Given the description of an element on the screen output the (x, y) to click on. 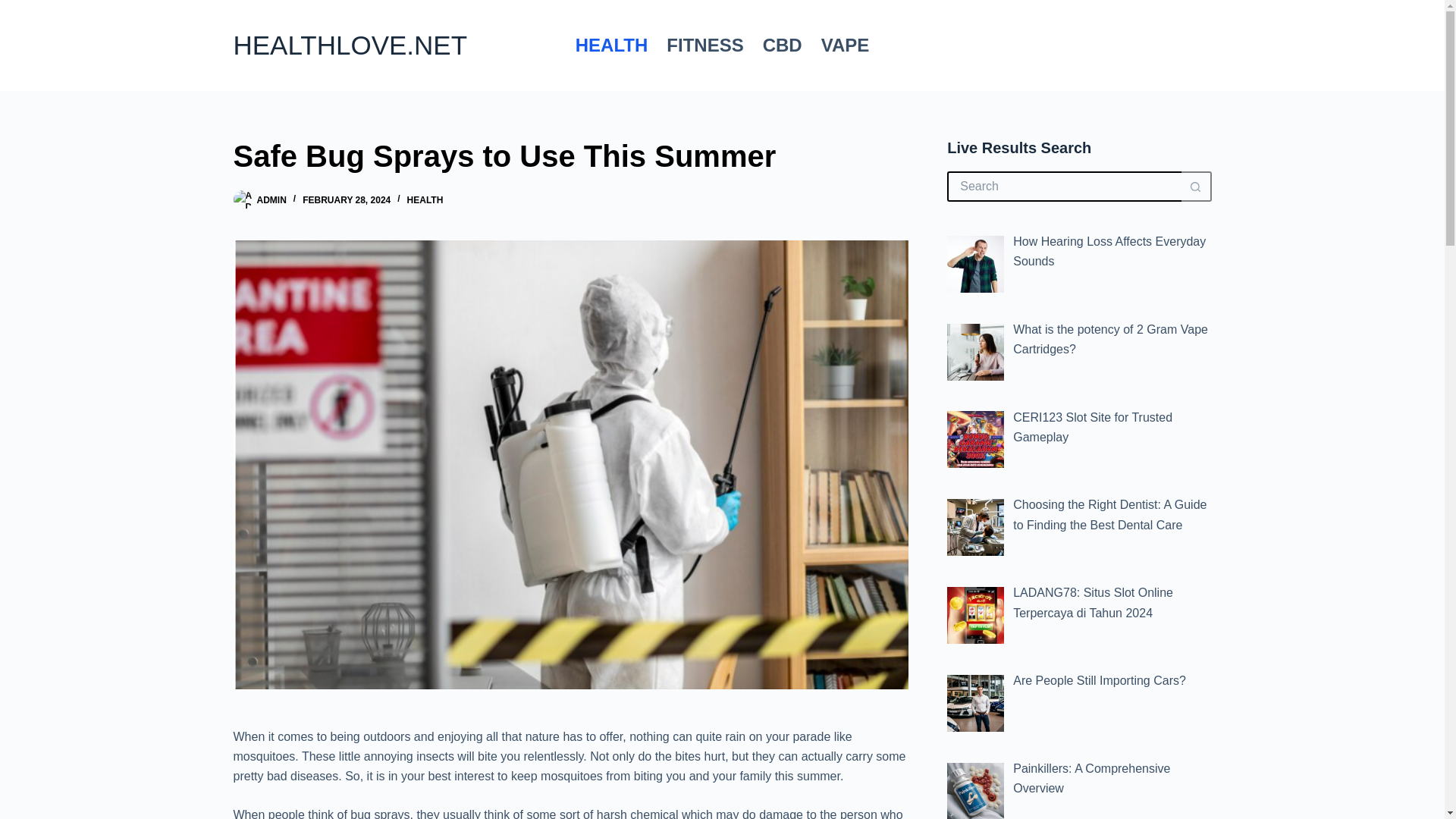
LADANG78: Situs Slot Online Terpercaya di Tahun 2024 (1093, 602)
FITNESS (705, 45)
HEALTHLOVE.NET (349, 44)
How Hearing Loss Affects Everyday Sounds (1109, 251)
CERI123 Slot Site for Trusted Gameplay (1092, 427)
Skip to content (15, 7)
ADMIN (270, 199)
What is the potency of 2 Gram Vape Cartridges? (1110, 338)
HEALTH (612, 45)
Posts by admin (270, 199)
Search for... (1063, 186)
Painkillers: A Comprehensive Overview (1091, 778)
Are People Still Importing Cars? (1099, 680)
Safe Bug Sprays to Use This Summer (570, 156)
